Given the description of an element on the screen output the (x, y) to click on. 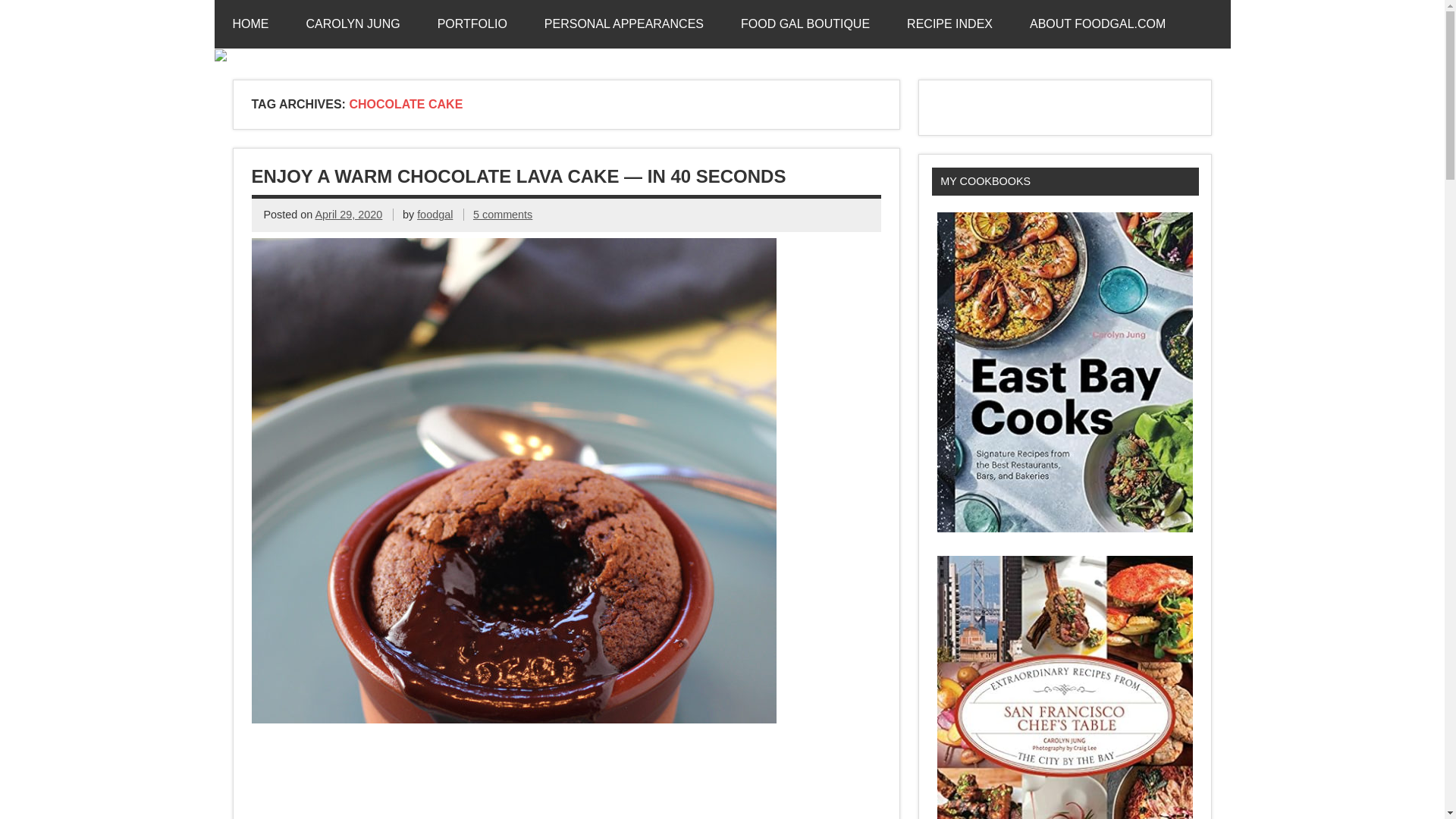
5 comments (502, 214)
FOOD GAL BOUTIQUE (805, 24)
View all posts by foodgal (434, 214)
CAROLYN JUNG (353, 24)
PERSONAL APPEARANCES (623, 24)
April 29, 2020 (348, 214)
ABOUT FOODGAL.COM (1097, 24)
PORTFOLIO (472, 24)
5:27 am (348, 214)
RECIPE INDEX (949, 24)
foodgal (434, 214)
HOME (250, 24)
